Given the description of an element on the screen output the (x, y) to click on. 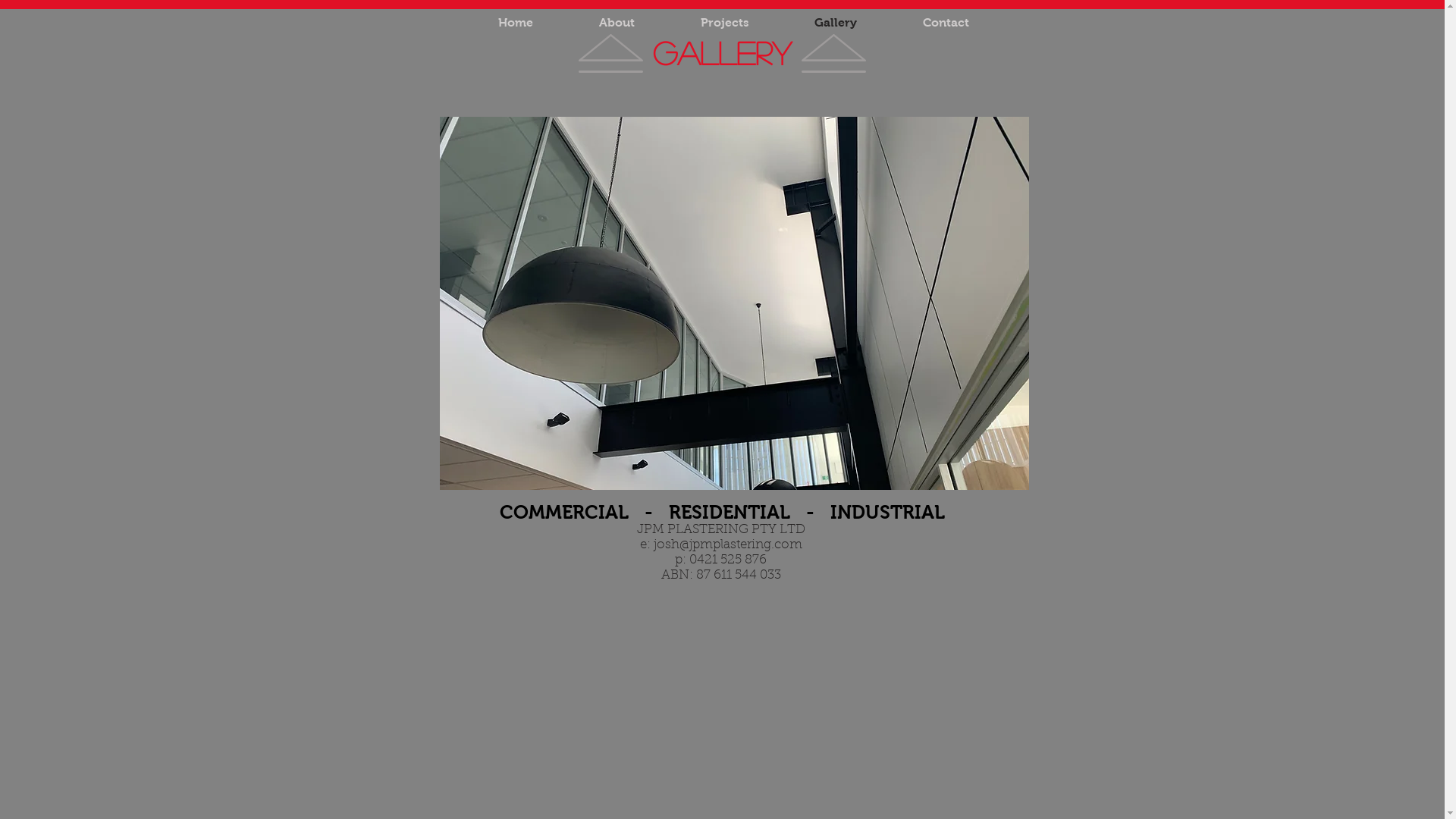
Contact Element type: text (946, 22)
About Element type: text (616, 22)
Home Element type: text (515, 22)
josh@jpmplastering.com Element type: text (727, 544)
Gallery Element type: text (835, 22)
Projects Element type: text (724, 22)
